Given the description of an element on the screen output the (x, y) to click on. 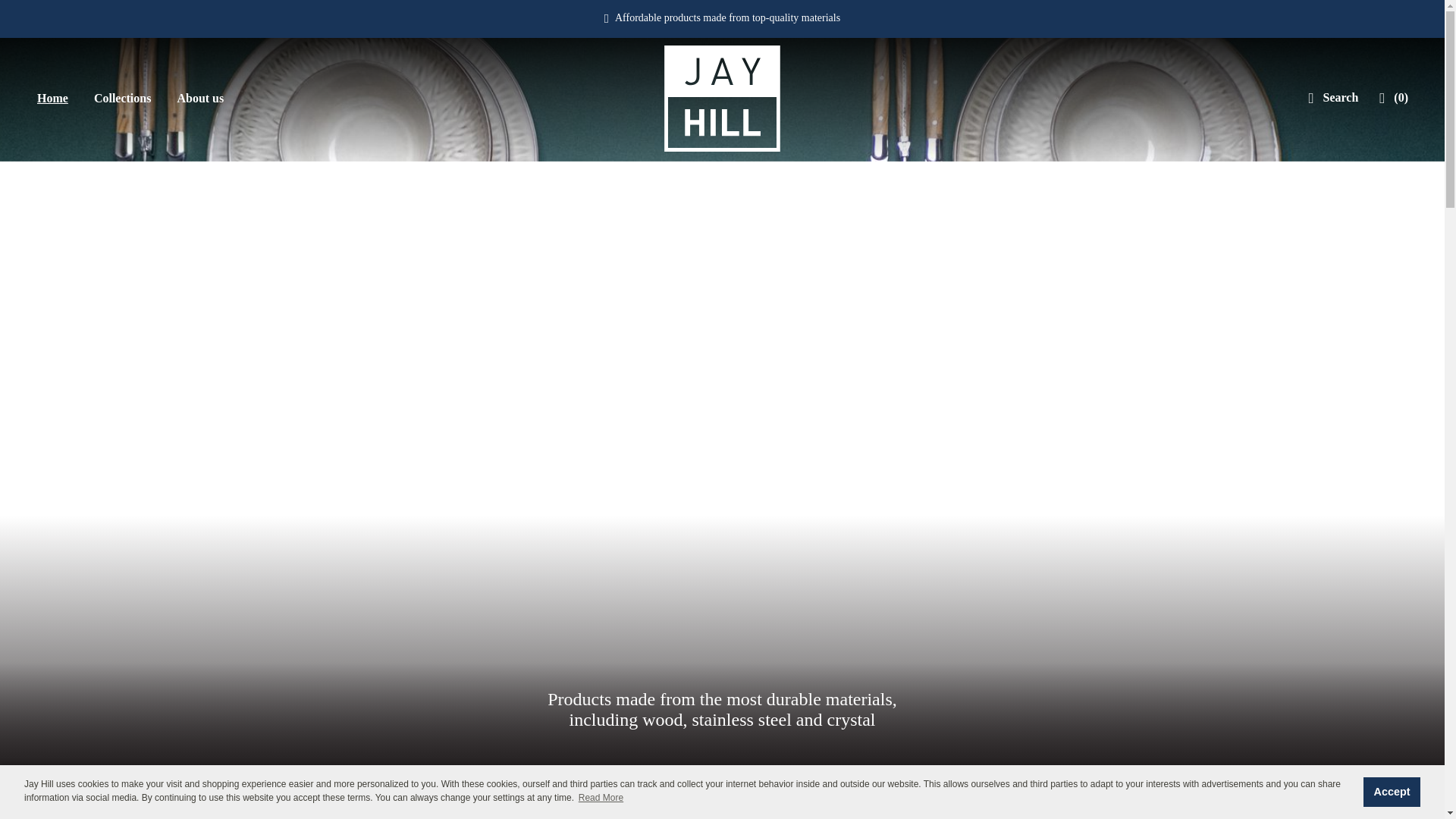
Accept (1391, 791)
Home (52, 97)
Read More (600, 797)
About us (200, 97)
Collections (122, 97)
